Given the description of an element on the screen output the (x, y) to click on. 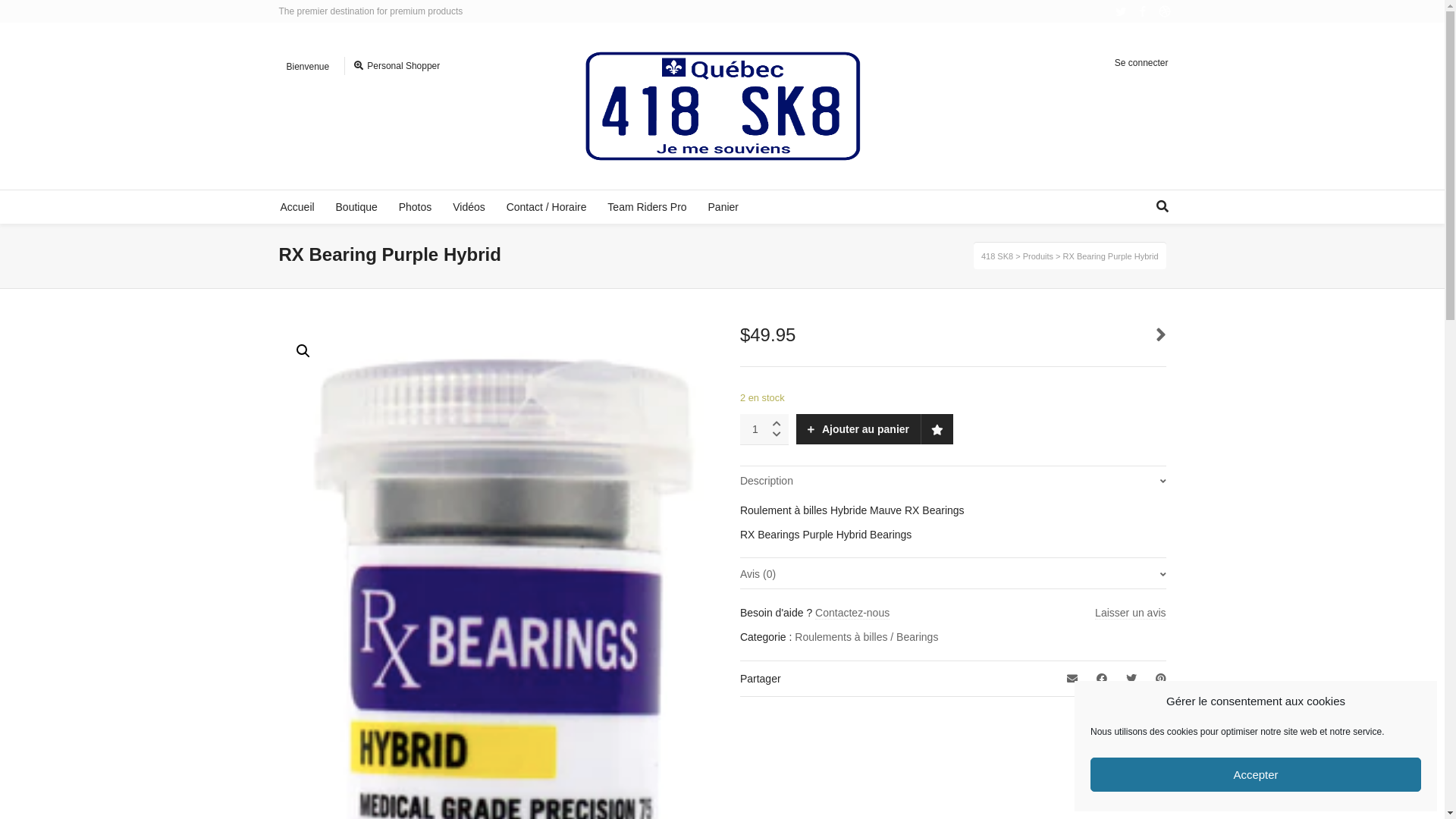
Contact / Horaire Element type: text (546, 206)
Laisser un avis Element type: text (1130, 612)
Description Element type: text (953, 480)
Team Riders Pro Element type: text (646, 206)
Avis (0) Element type: text (953, 573)
Personal Shopper Element type: text (396, 65)
Produits Element type: text (1037, 255)
Accueil Element type: text (297, 206)
Accepter Element type: text (1255, 774)
Dribbble Element type: text (1164, 11)
Facebook Element type: text (1141, 11)
Ajouter au panier Element type: text (858, 429)
Twitter Element type: text (1120, 11)
418 SK8 Element type: text (997, 255)
Photos Element type: text (415, 206)
Se connecter Element type: text (1145, 62)
Boutique Element type: text (356, 206)
Panier Element type: text (723, 206)
Contactez-nous Element type: text (852, 612)
